Given the description of an element on the screen output the (x, y) to click on. 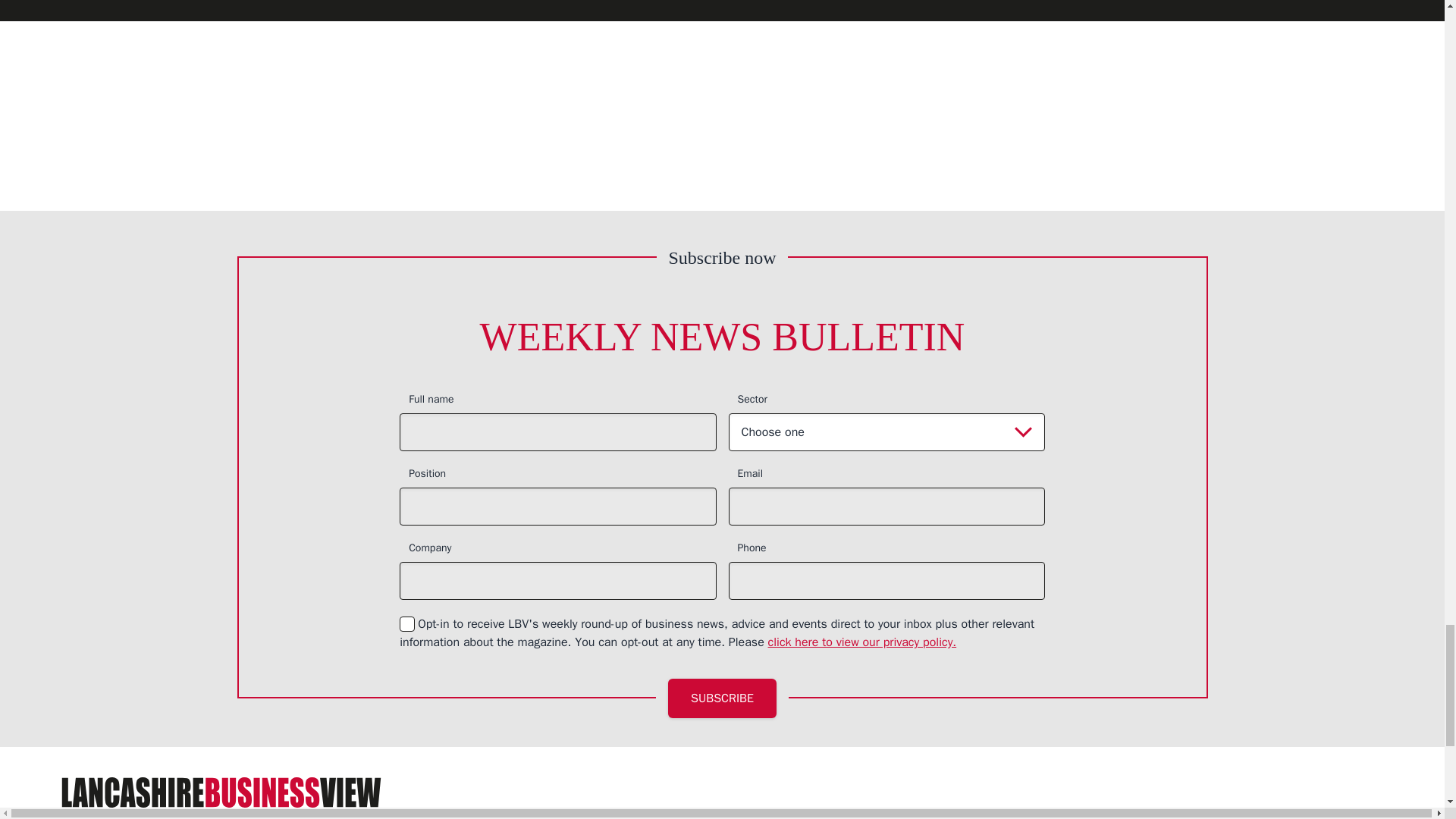
Privacy Policy (862, 642)
